Given the description of an element on the screen output the (x, y) to click on. 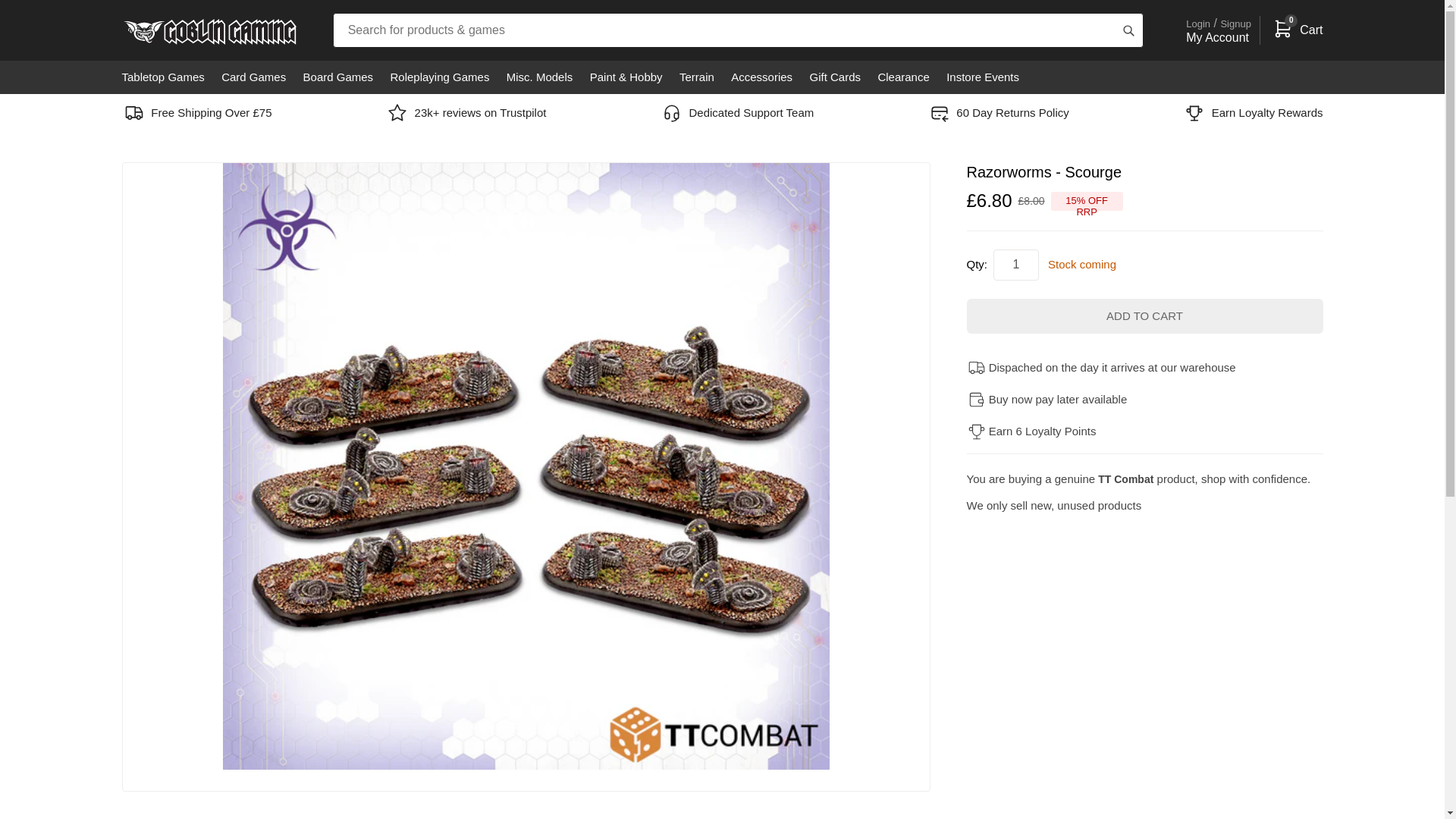
1 (1015, 264)
